Given the description of an element on the screen output the (x, y) to click on. 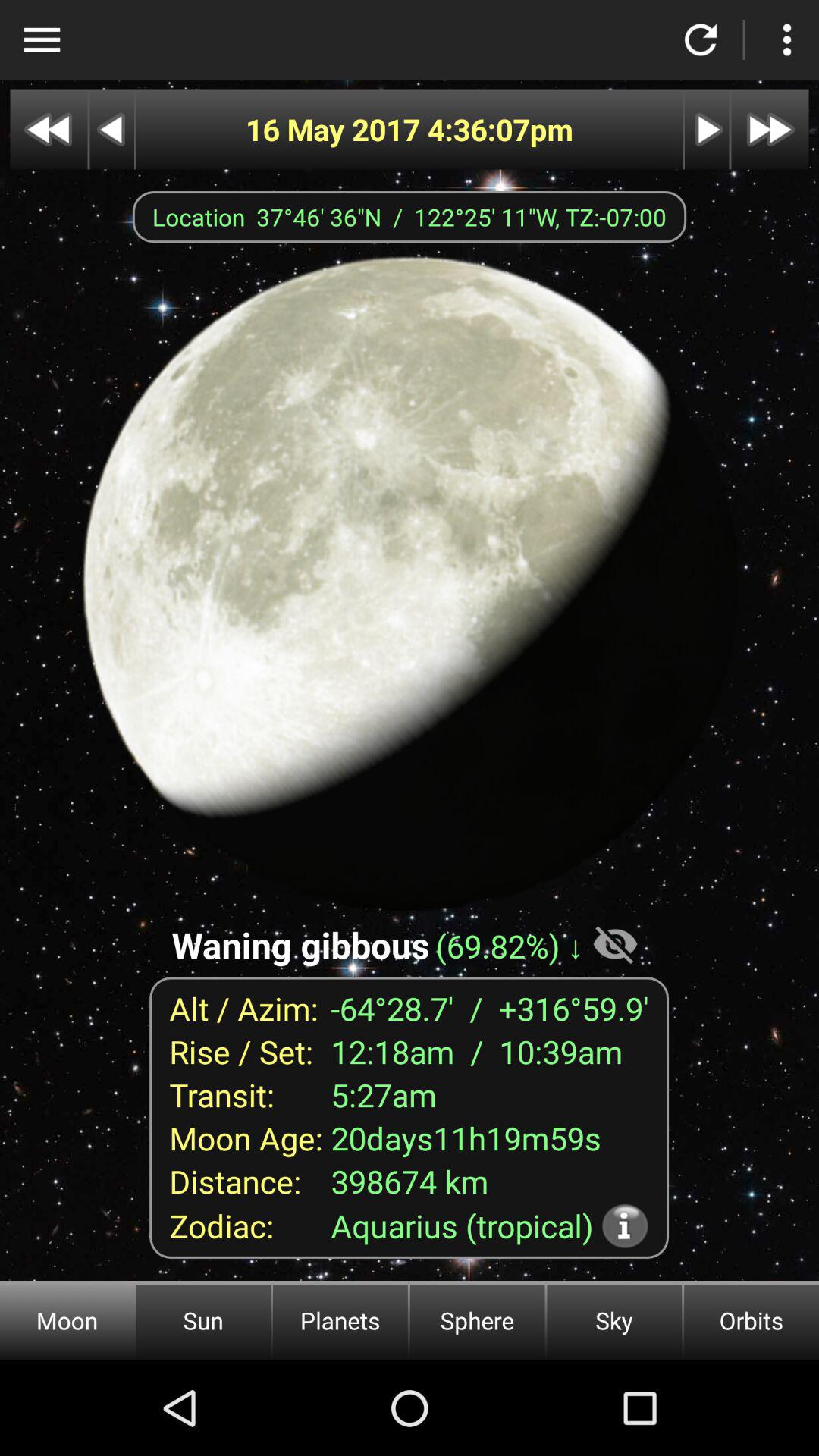
go back further than normal back (48, 129)
